Given the description of an element on the screen output the (x, y) to click on. 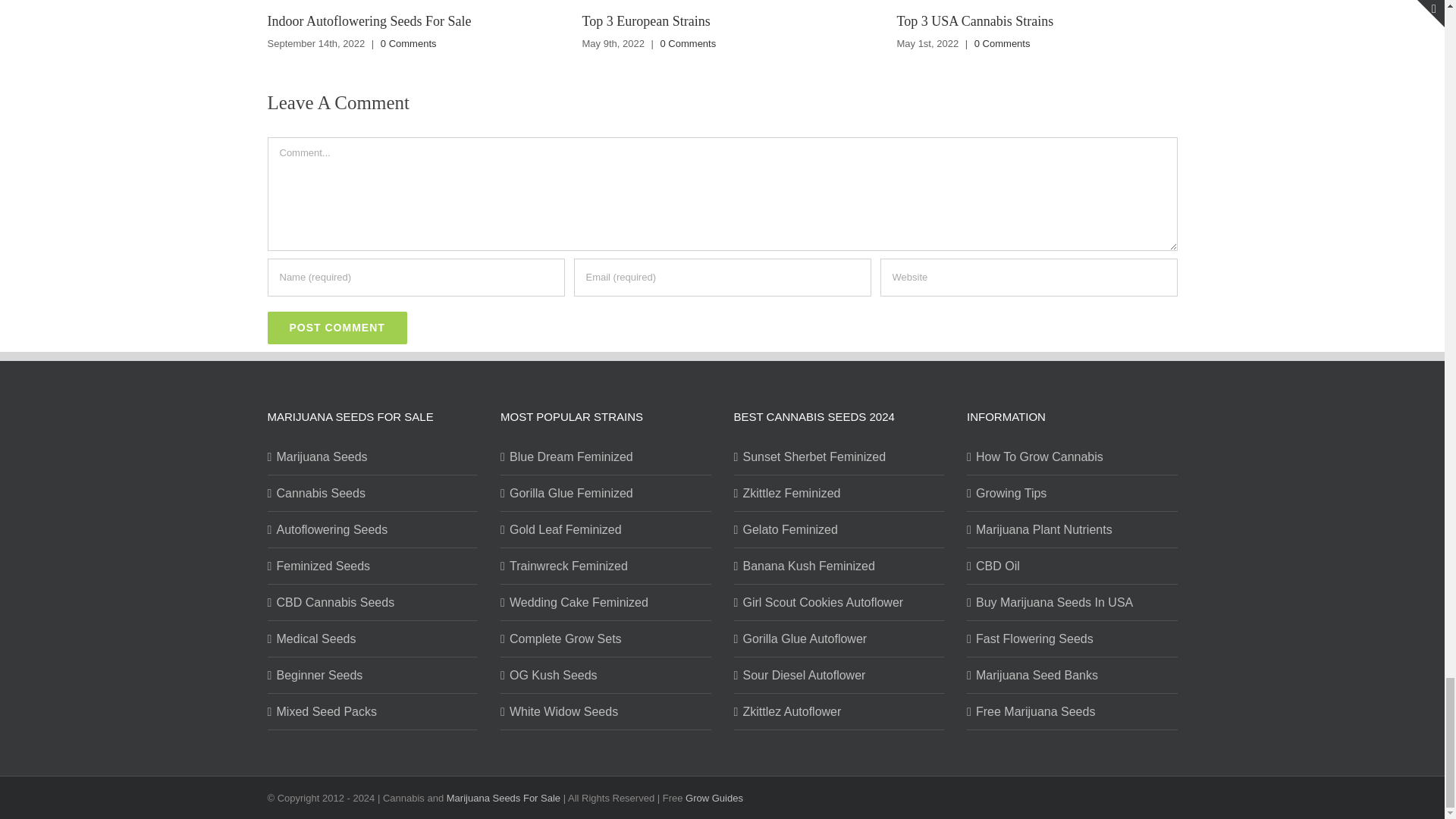
Top 3 European Strains (645, 20)
0 Comments (408, 43)
0 Comments (688, 43)
Indoor Autoflowering Seeds For Sale (368, 20)
Post Comment (336, 327)
